Given the description of an element on the screen output the (x, y) to click on. 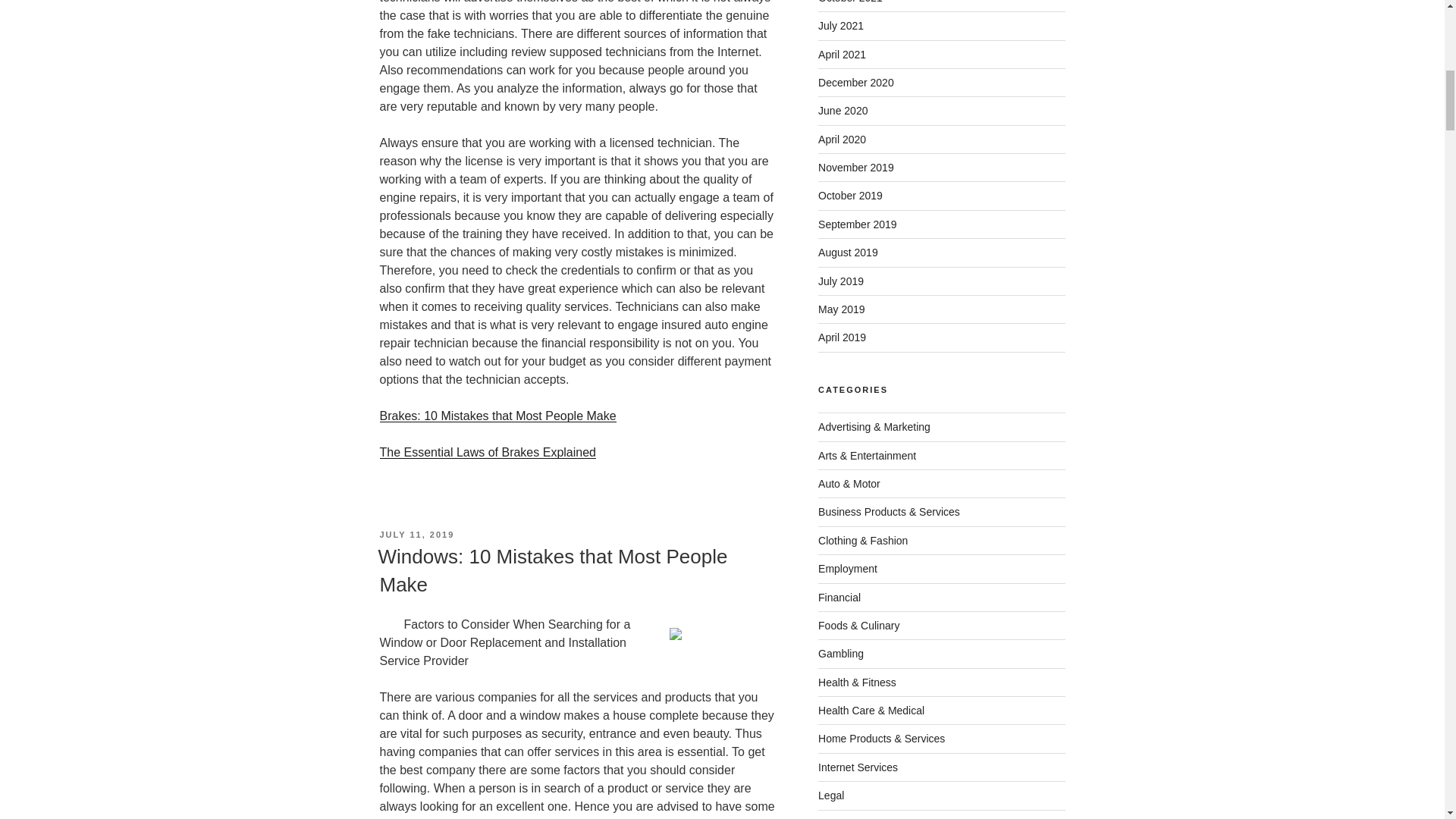
JULY 11, 2019 (416, 533)
Brakes: 10 Mistakes that Most People Make (496, 415)
Windows: 10 Mistakes that Most People Make (551, 570)
The Essential Laws of Brakes Explained (486, 451)
